Given the description of an element on the screen output the (x, y) to click on. 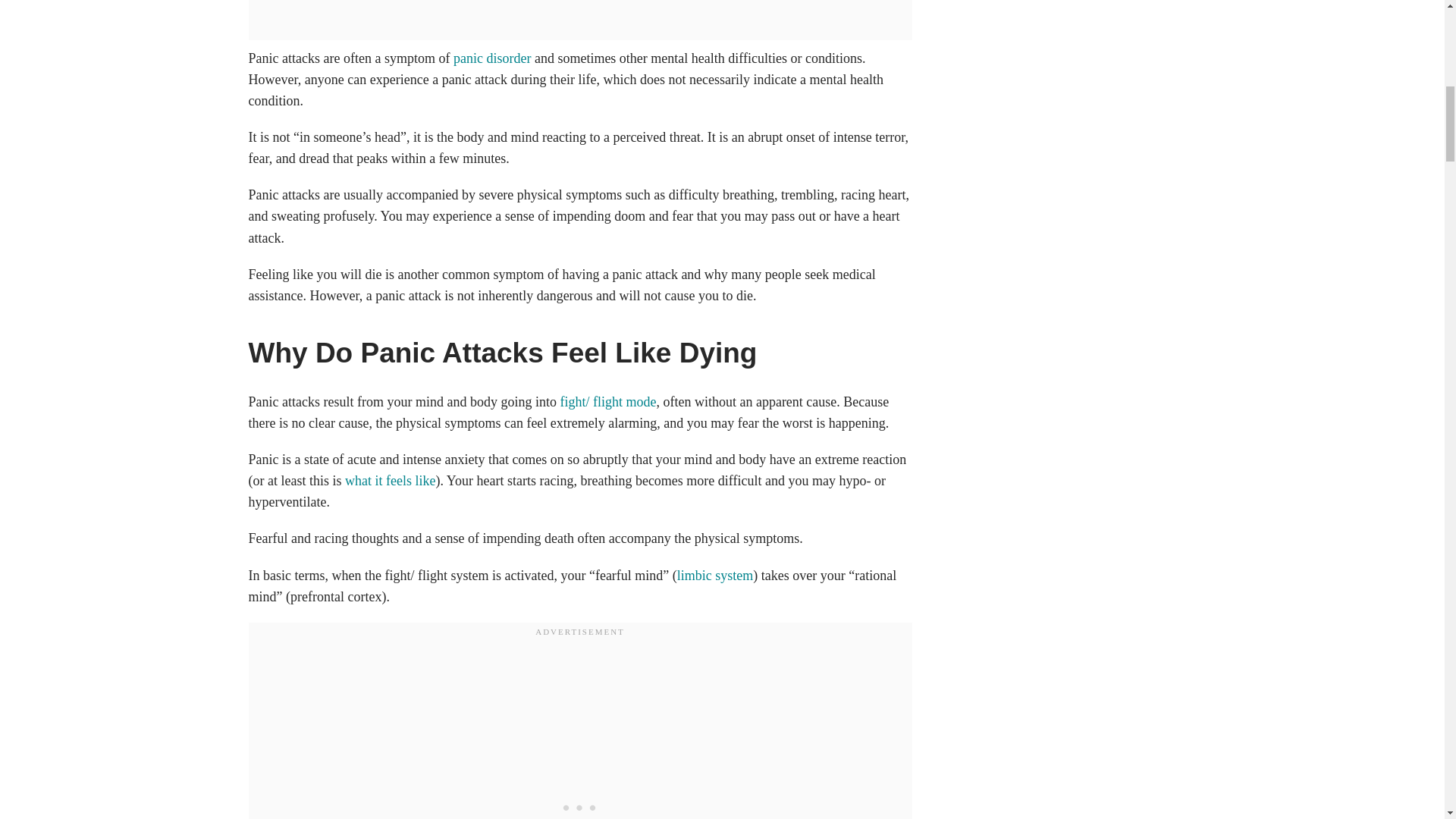
limbic system (715, 575)
what it feels like (390, 480)
panic disorder (491, 58)
